Given the description of an element on the screen output the (x, y) to click on. 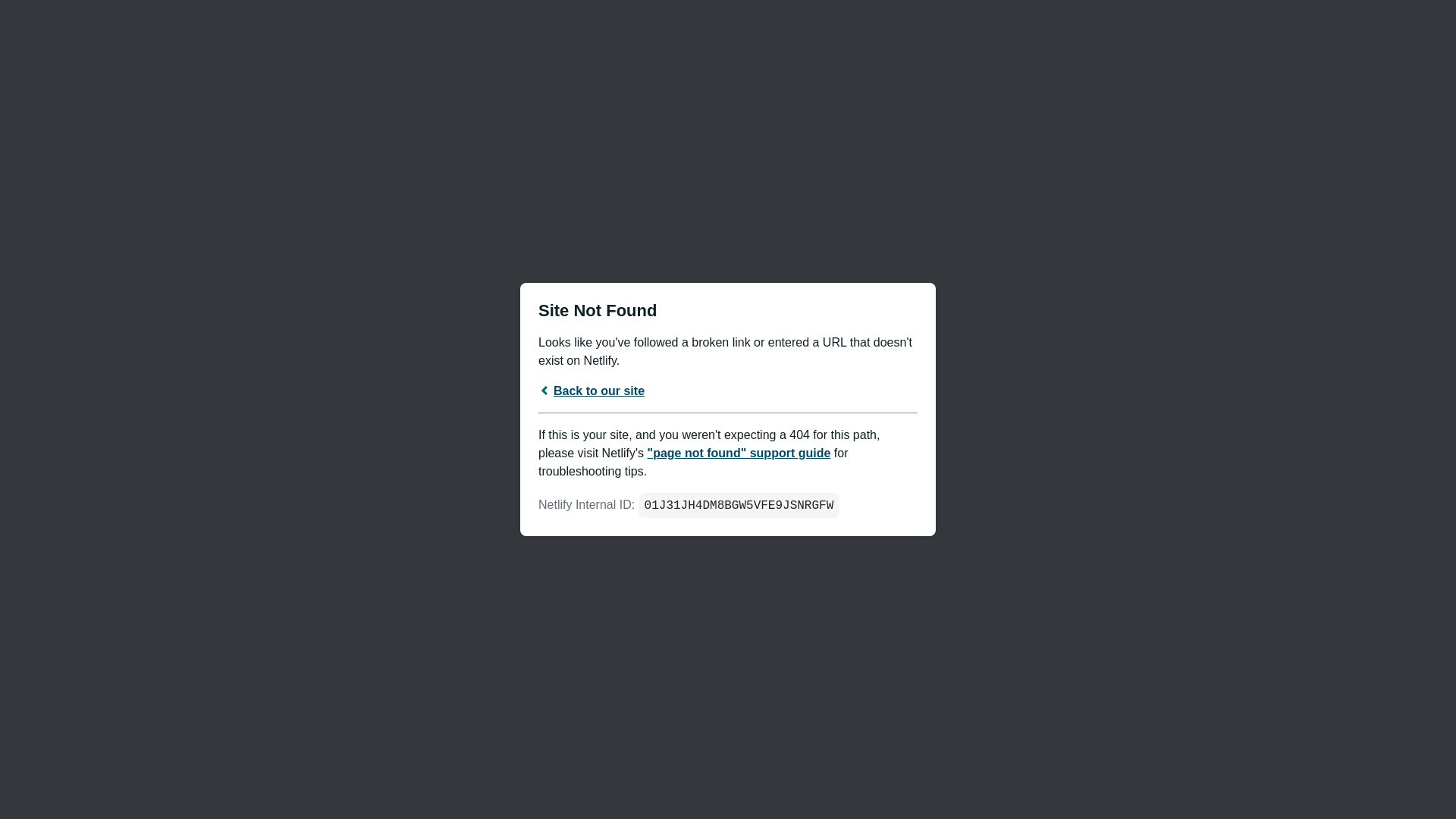
Back to our site (591, 390)
"page not found" support guide (739, 452)
